Given the description of an element on the screen output the (x, y) to click on. 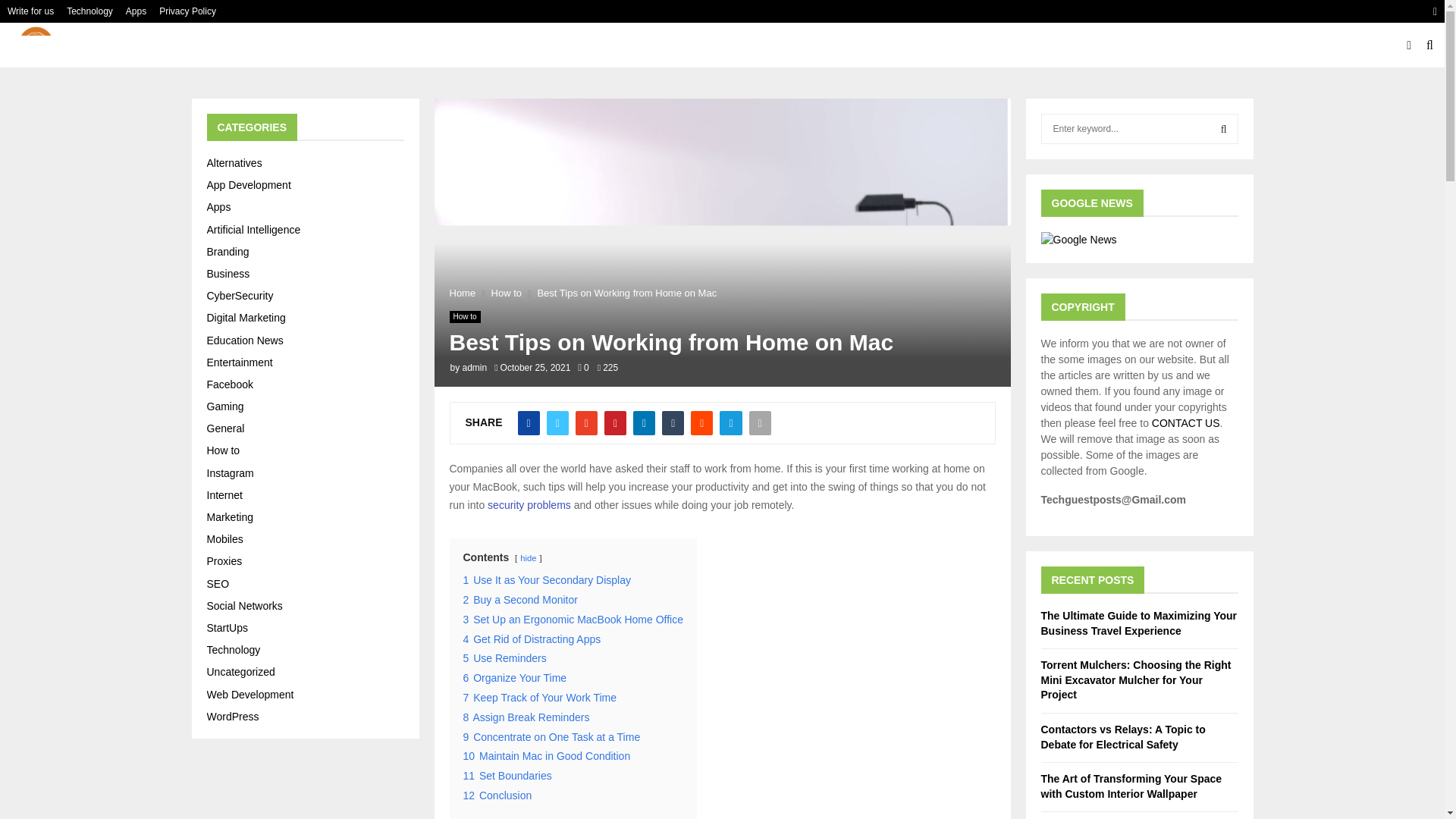
2 Buy a Second Monitor (519, 599)
How to (506, 292)
0 (583, 367)
Write for us (30, 11)
1 Use It as Your Secondary Display (546, 580)
Privacy Policy (186, 11)
3 Set Up an Ergonomic MacBook Home Office (572, 619)
HOW TO (711, 44)
Technology (89, 11)
Apps (136, 11)
